Given the description of an element on the screen output the (x, y) to click on. 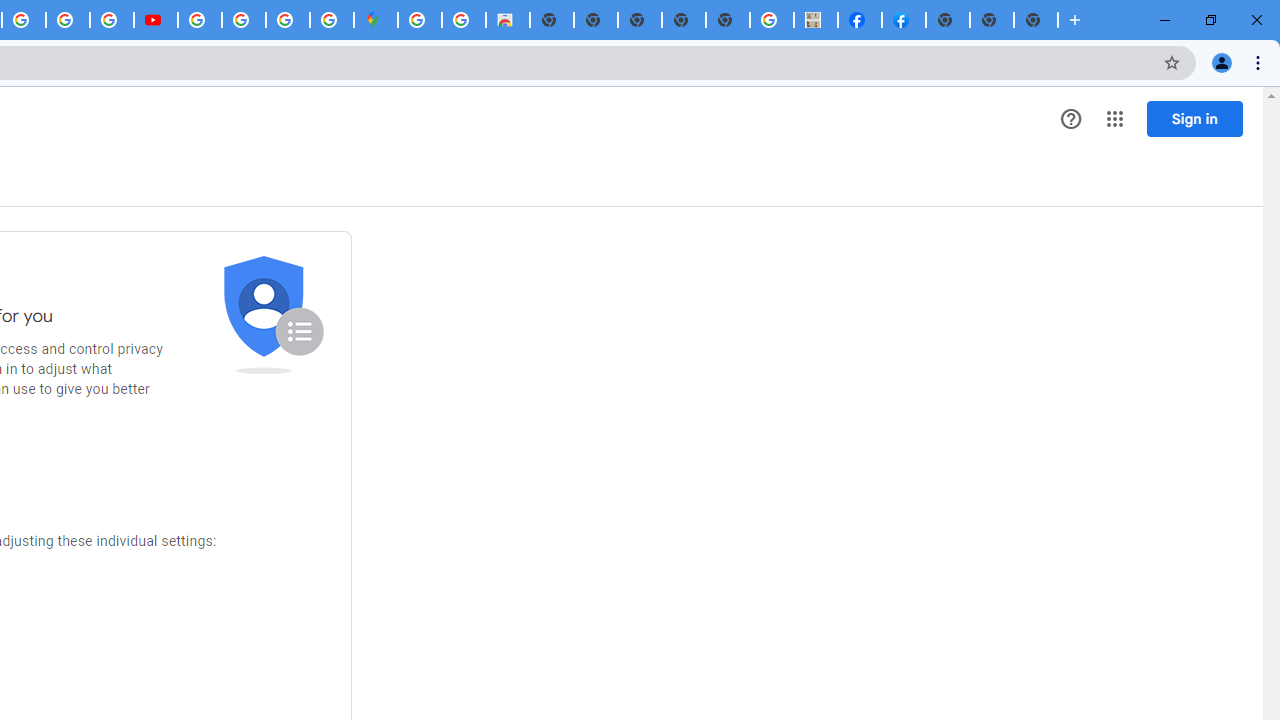
Privacy Help Center - Policies Help (67, 20)
Miley Cyrus | Facebook (859, 20)
New Tab (1035, 20)
Chrome Web Store - Shopping (507, 20)
